Given the description of an element on the screen output the (x, y) to click on. 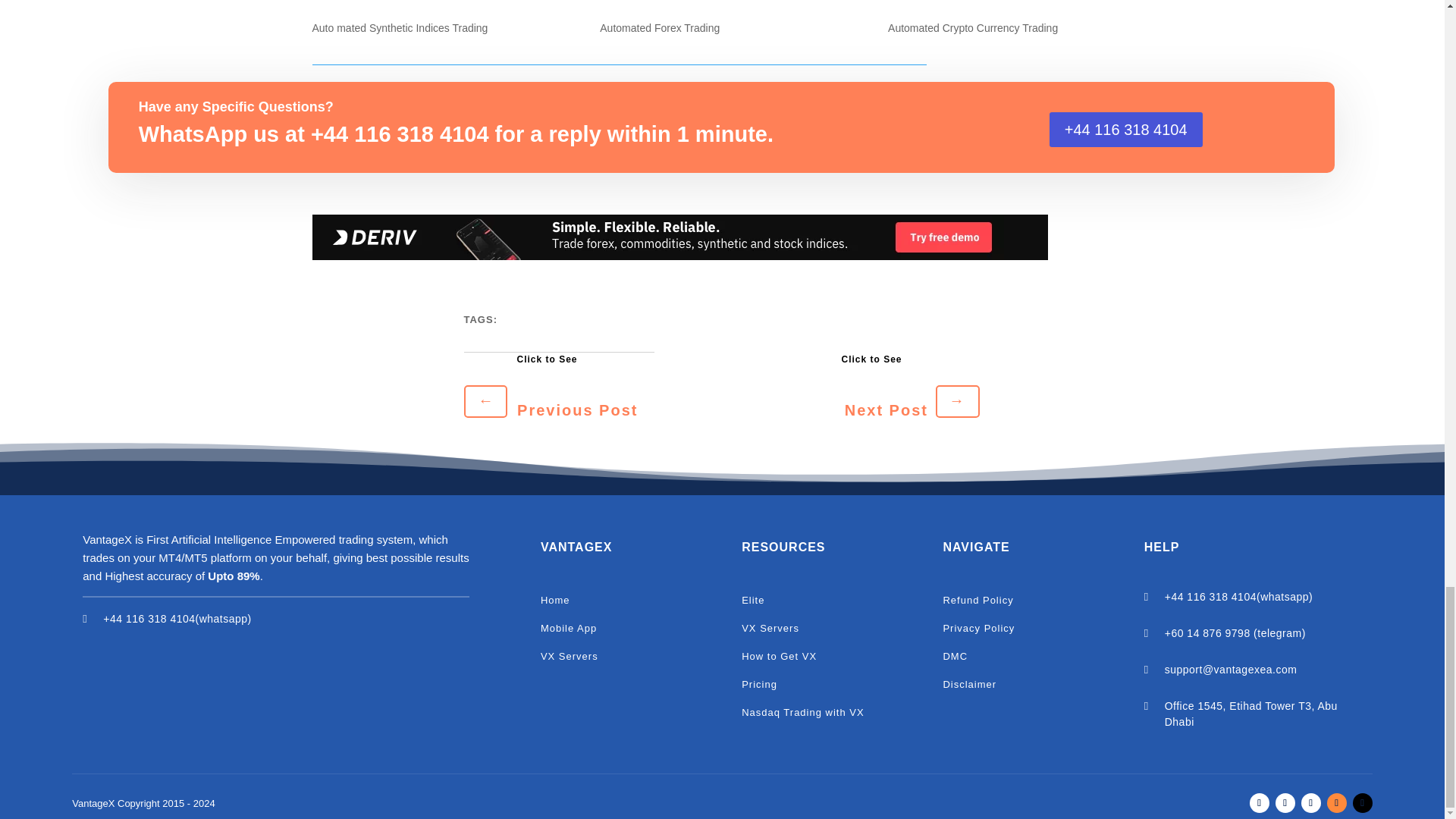
Follow on RSS (1336, 803)
Follow on X (1285, 803)
Follow on CodePen (1362, 803)
Follow on Facebook (1259, 803)
en001-970x60 (680, 237)
Follow on Instagram (1310, 803)
